Given the description of an element on the screen output the (x, y) to click on. 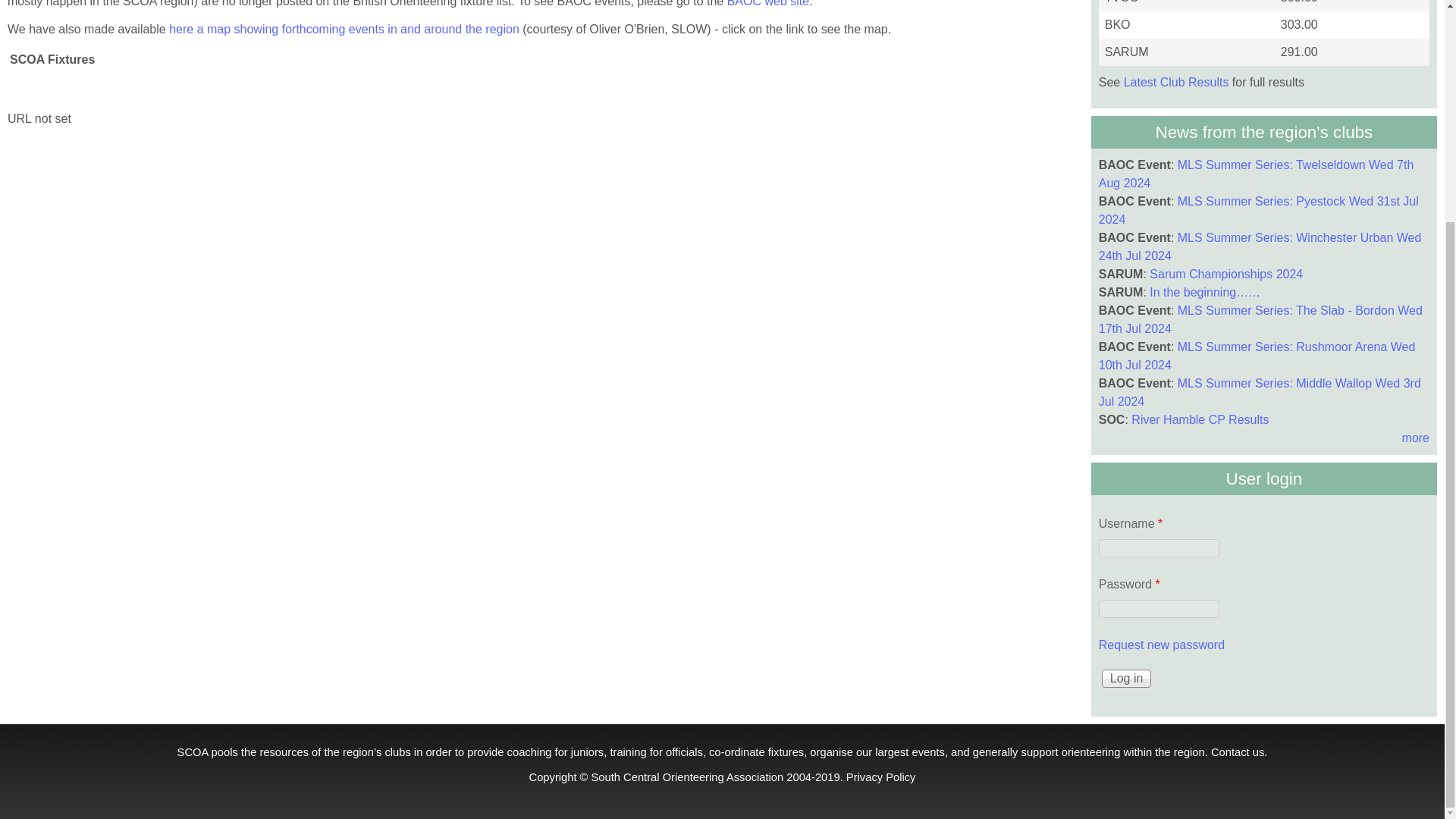
MLS Summer Series: The Slab - Bordon Wed 17th Jul 2024 (1260, 318)
Request new password (1161, 644)
MLS Summer Series: Pyestock Wed 31st Jul 2024 (1258, 210)
Log in (1126, 678)
Privacy Policy (880, 776)
BAOC web site (766, 3)
Latest Club Results (1176, 82)
Request new password via e-mail. (1161, 644)
Contact us (1237, 751)
Log in (1126, 678)
MLS Summer Series: Winchester Urban Wed 24th Jul 2024 (1260, 246)
MLS Summer Series: Middle Wallop Wed 3rd Jul 2024 (1260, 391)
Sarum Championships 2024 (1226, 273)
MLS Summer Series: Rushmoor Arena Wed 10th Jul 2024 (1257, 355)
